Given the description of an element on the screen output the (x, y) to click on. 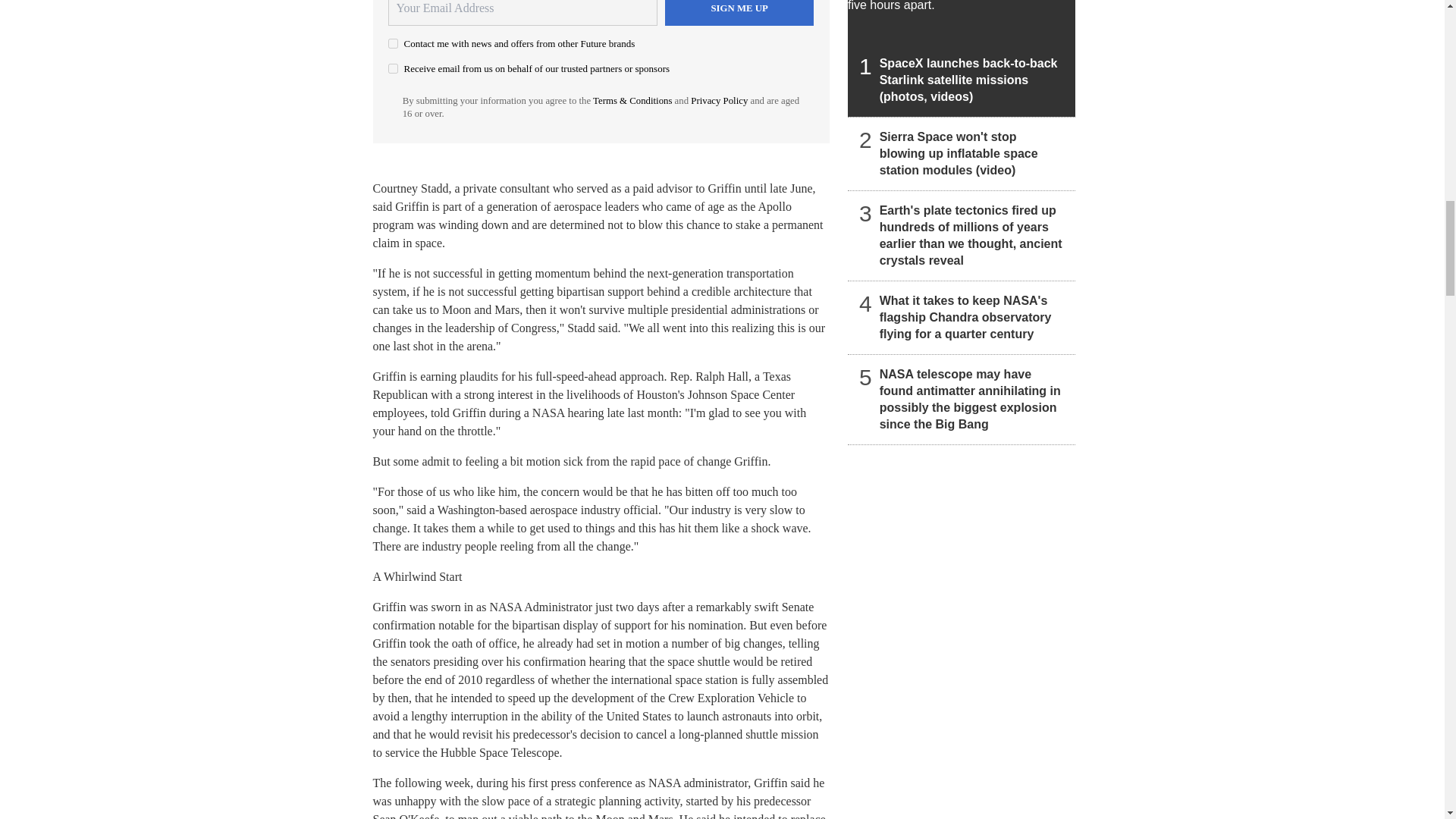
Sign me up (739, 12)
on (392, 43)
on (392, 68)
